Given the description of an element on the screen output the (x, y) to click on. 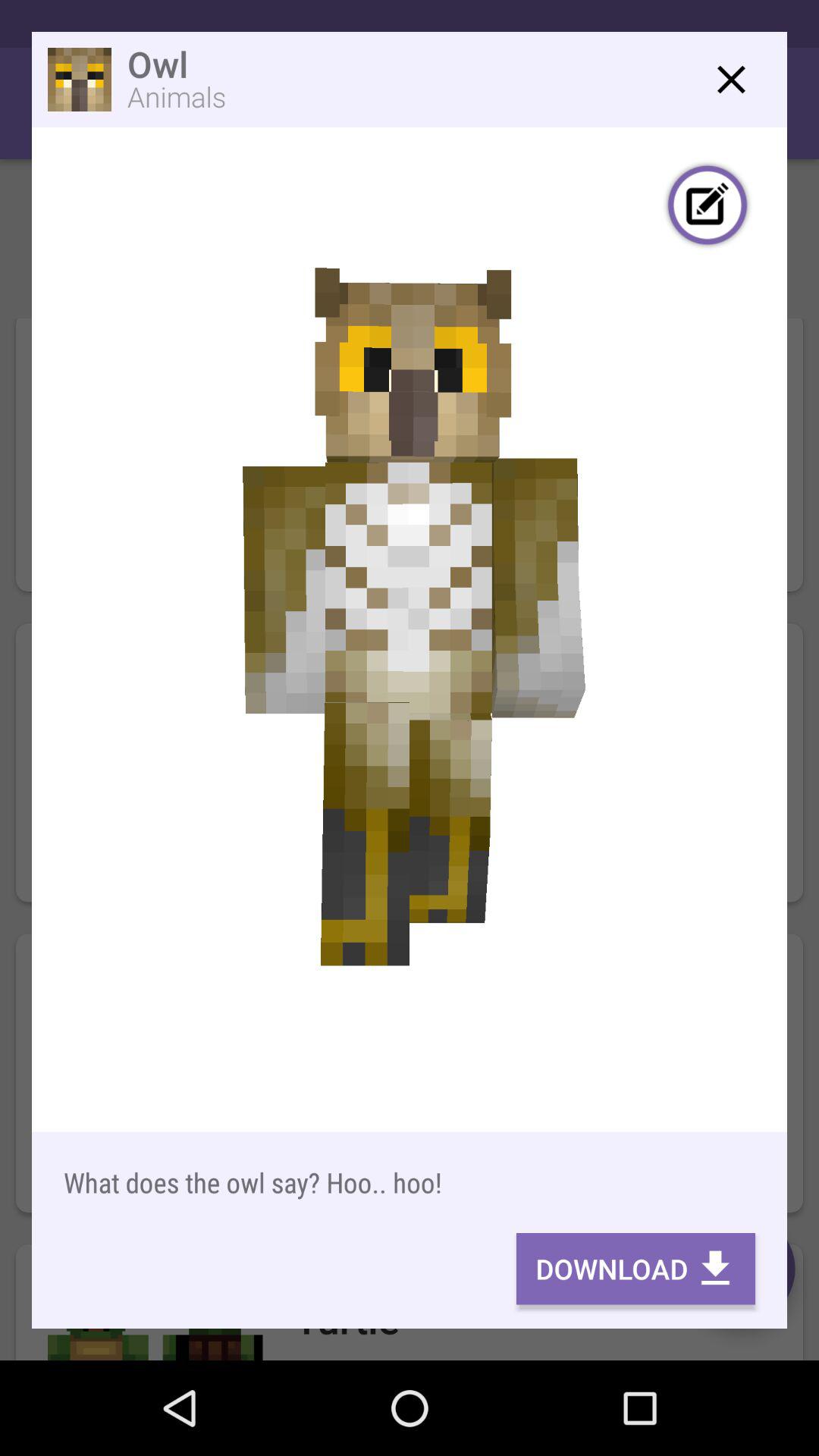
exit (731, 79)
